Given the description of an element on the screen output the (x, y) to click on. 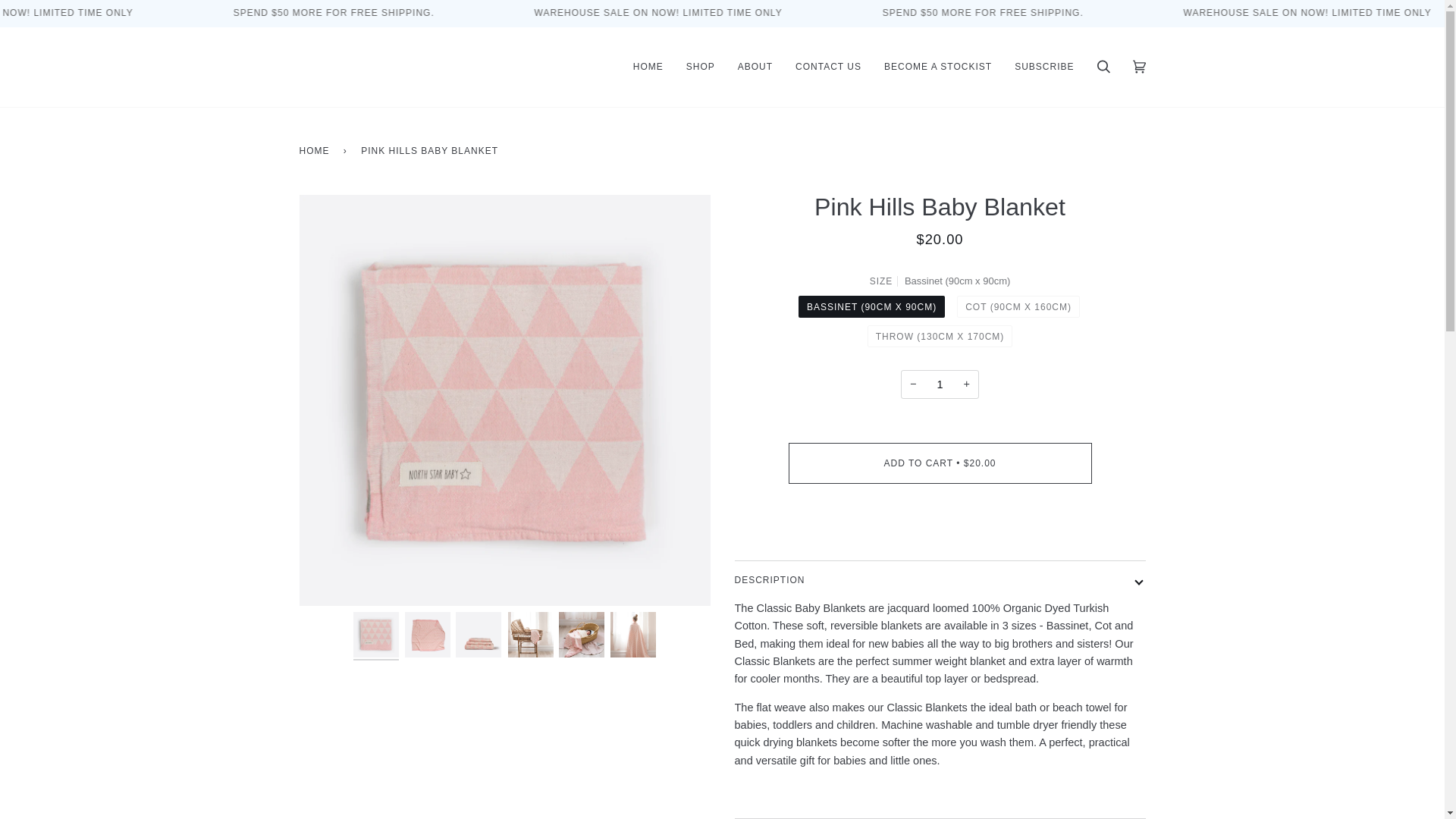
SUBSCRIBE (1043, 67)
CONTACT US (828, 67)
1 (939, 384)
BECOME A STOCKIST (937, 67)
Back to the frontpage (316, 150)
